Given the description of an element on the screen output the (x, y) to click on. 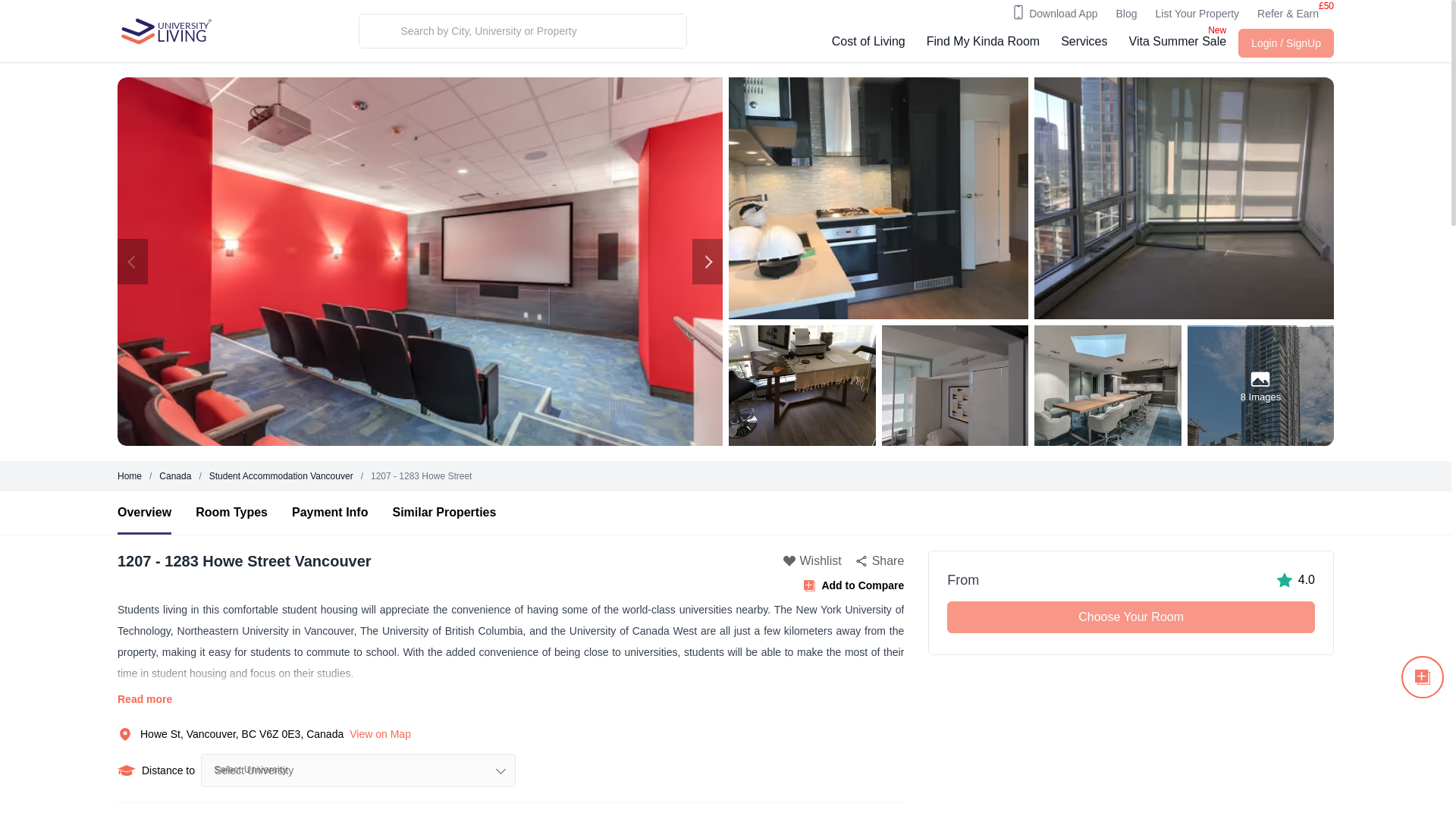
Services (1083, 43)
Blog (1126, 13)
Cost of Living (868, 43)
Student Accommodation Vancouver (281, 475)
Choose Your Room (1130, 617)
List Your Property (1198, 13)
Canada (174, 475)
Home (129, 475)
Find My Kinda Room (982, 43)
